Given the description of an element on the screen output the (x, y) to click on. 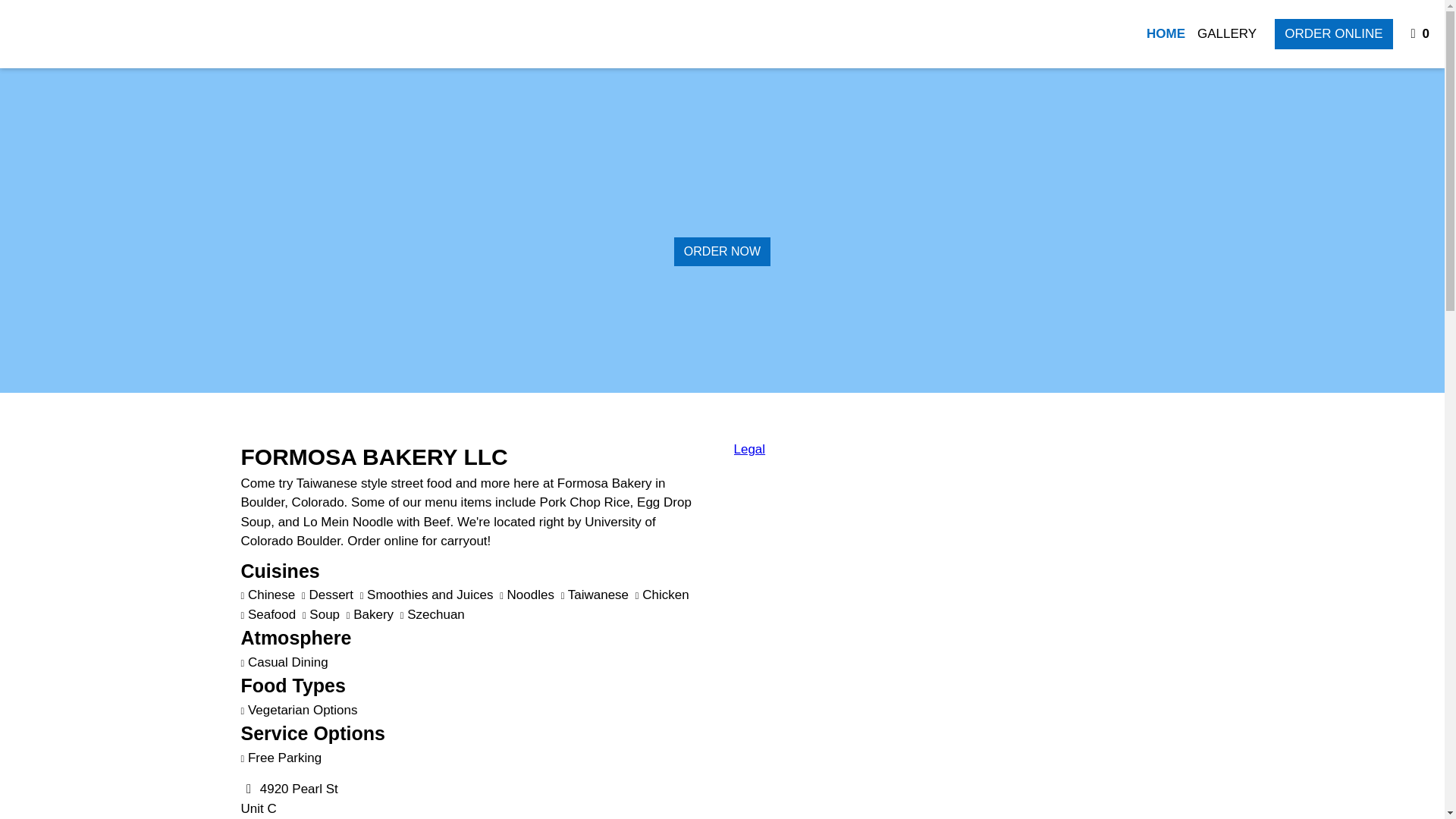
GALLERY (1226, 33)
HOME (305, 800)
ORDER ONLINE (1421, 33)
ORDER NOW (1165, 33)
